Given the description of an element on the screen output the (x, y) to click on. 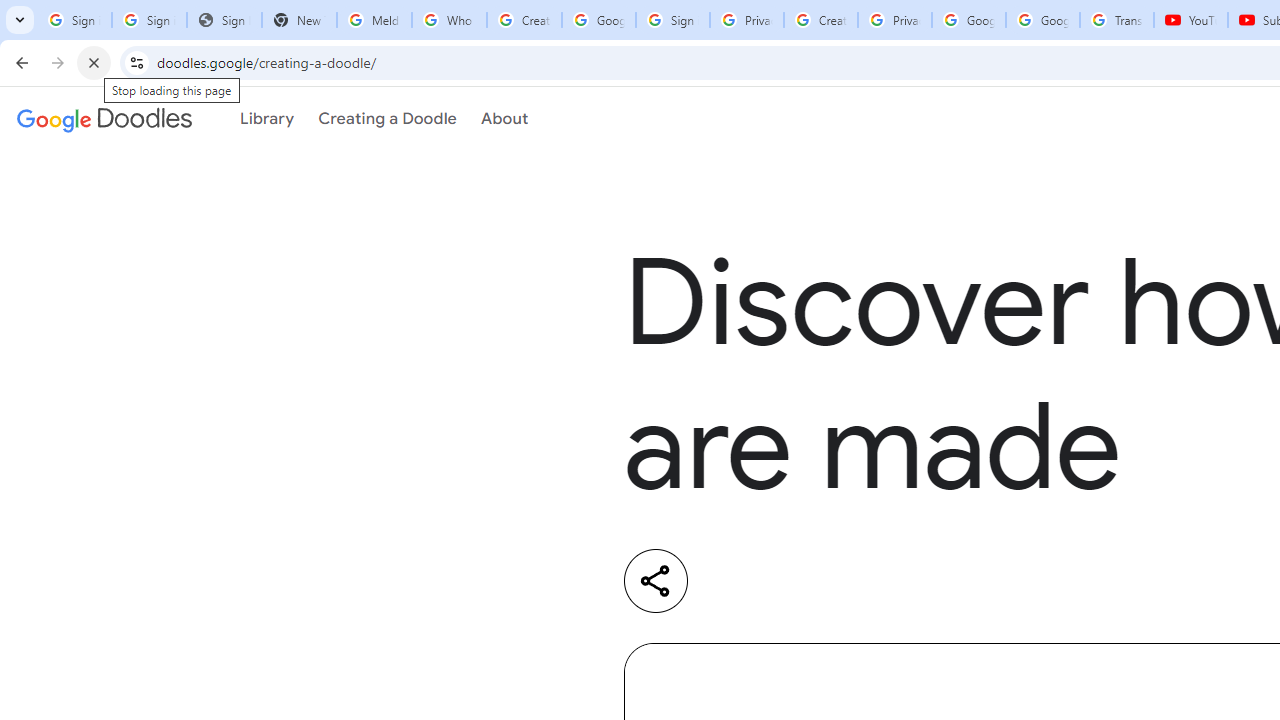
Google Account (1043, 20)
Sign in - Google Accounts (74, 20)
Sign in - Google Accounts (673, 20)
Sign In - USA TODAY (224, 20)
Who is my administrator? - Google Account Help (449, 20)
Create your Google Account (820, 20)
